Given the description of an element on the screen output the (x, y) to click on. 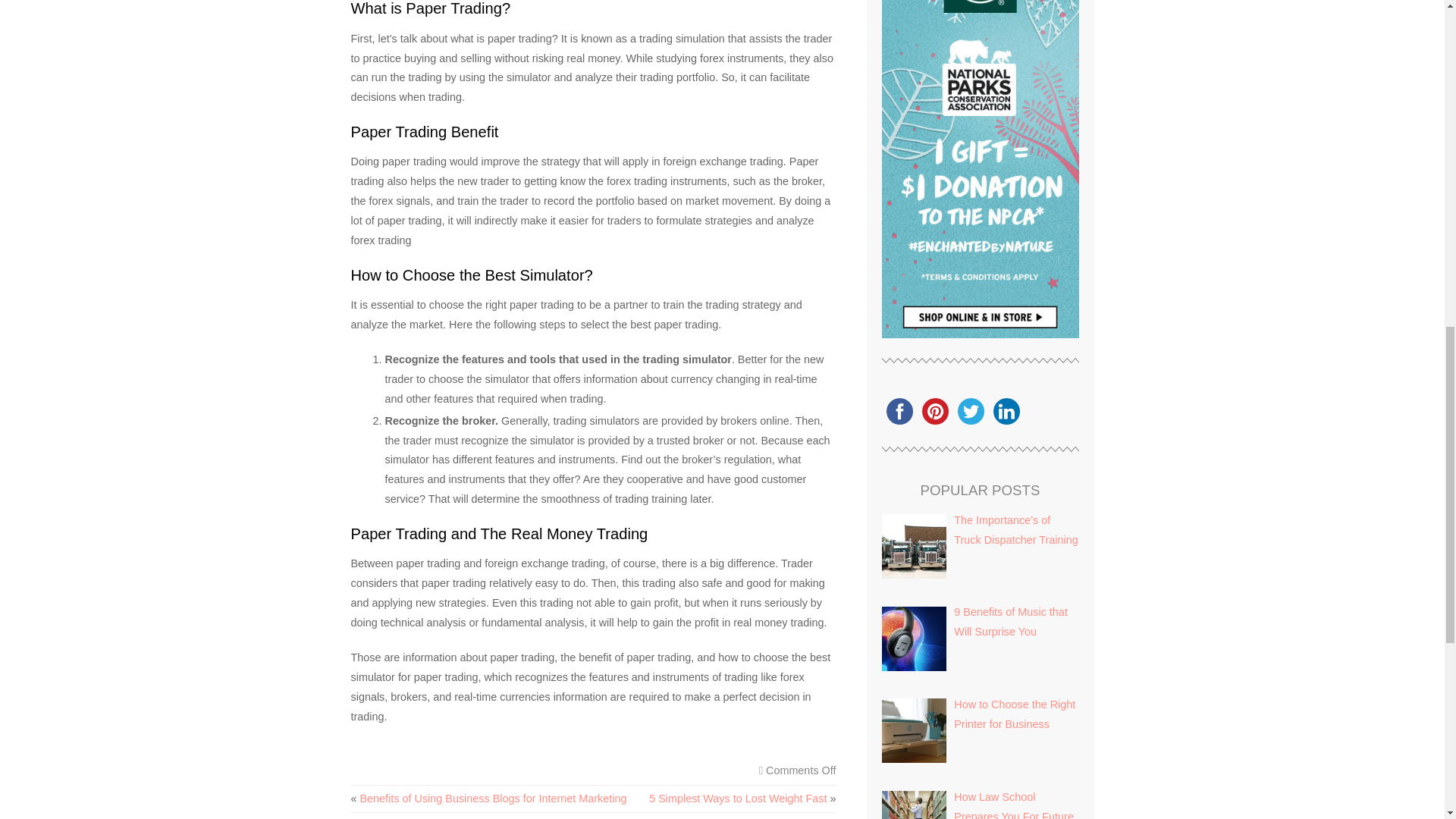
Pinterest (935, 411)
9 Benefits of Music that Will Surprise You (1010, 622)
Facebook (898, 411)
How to Choose the Right Printer for Business (1014, 714)
5 Simplest Ways to Lost Weight Fast (738, 798)
How Law School Prepares You For Future Entrepreneurship (1013, 805)
Benefits of Using Business Blogs for Internet Marketing (493, 798)
Twitter (970, 411)
LinkedIn (1006, 411)
